Given the description of an element on the screen output the (x, y) to click on. 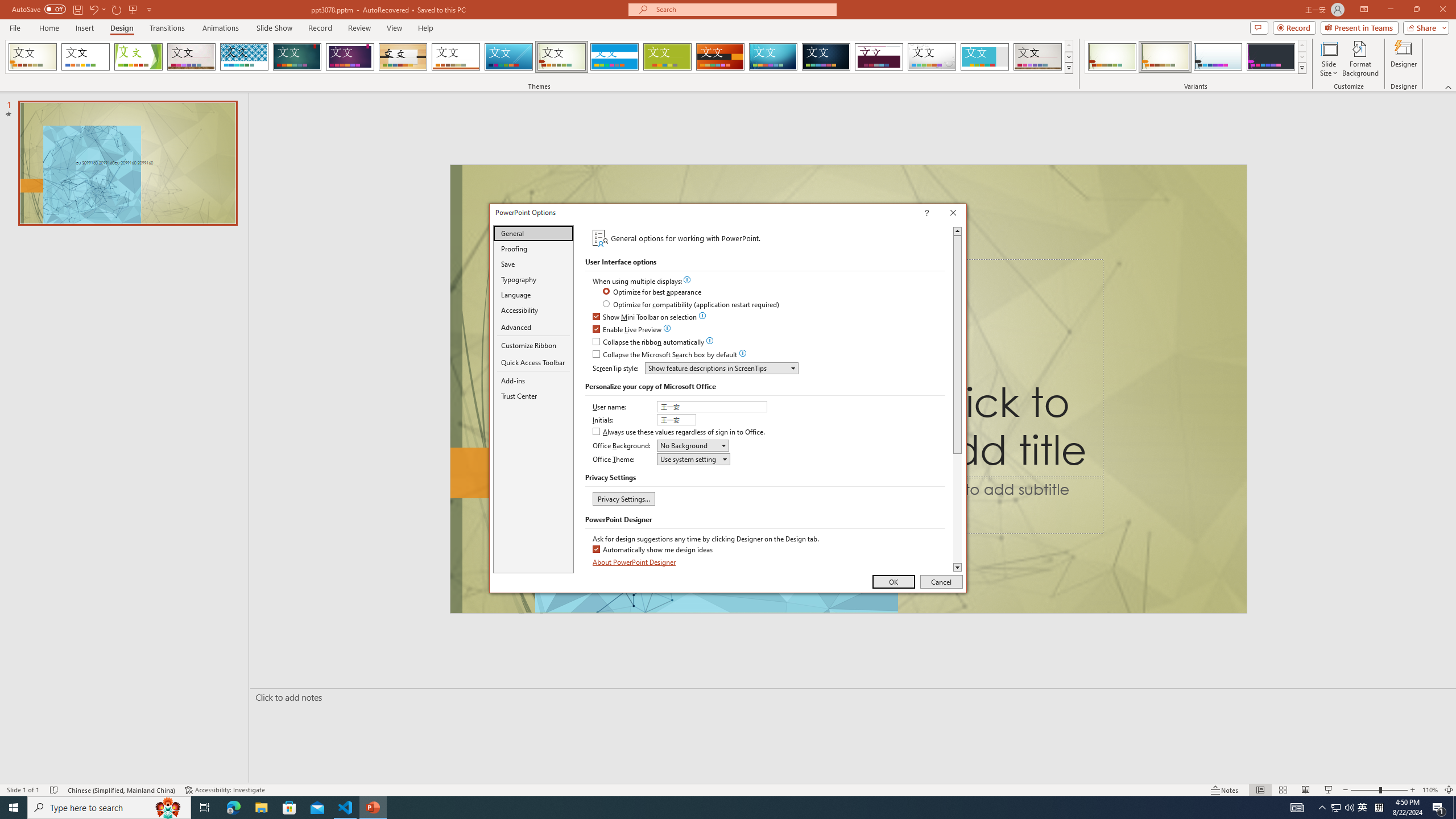
Page down (957, 508)
Typography (533, 279)
Droplet Loading Preview... (931, 56)
Wisp Variant 1 (1112, 56)
Wisp Variant 3 (1217, 56)
Gallery (191, 56)
Type here to search (108, 807)
Slide Size (1328, 58)
Gallery Loading Preview... (1037, 56)
AutomationID: SlideThemesGallery (539, 56)
